Given the description of an element on the screen output the (x, y) to click on. 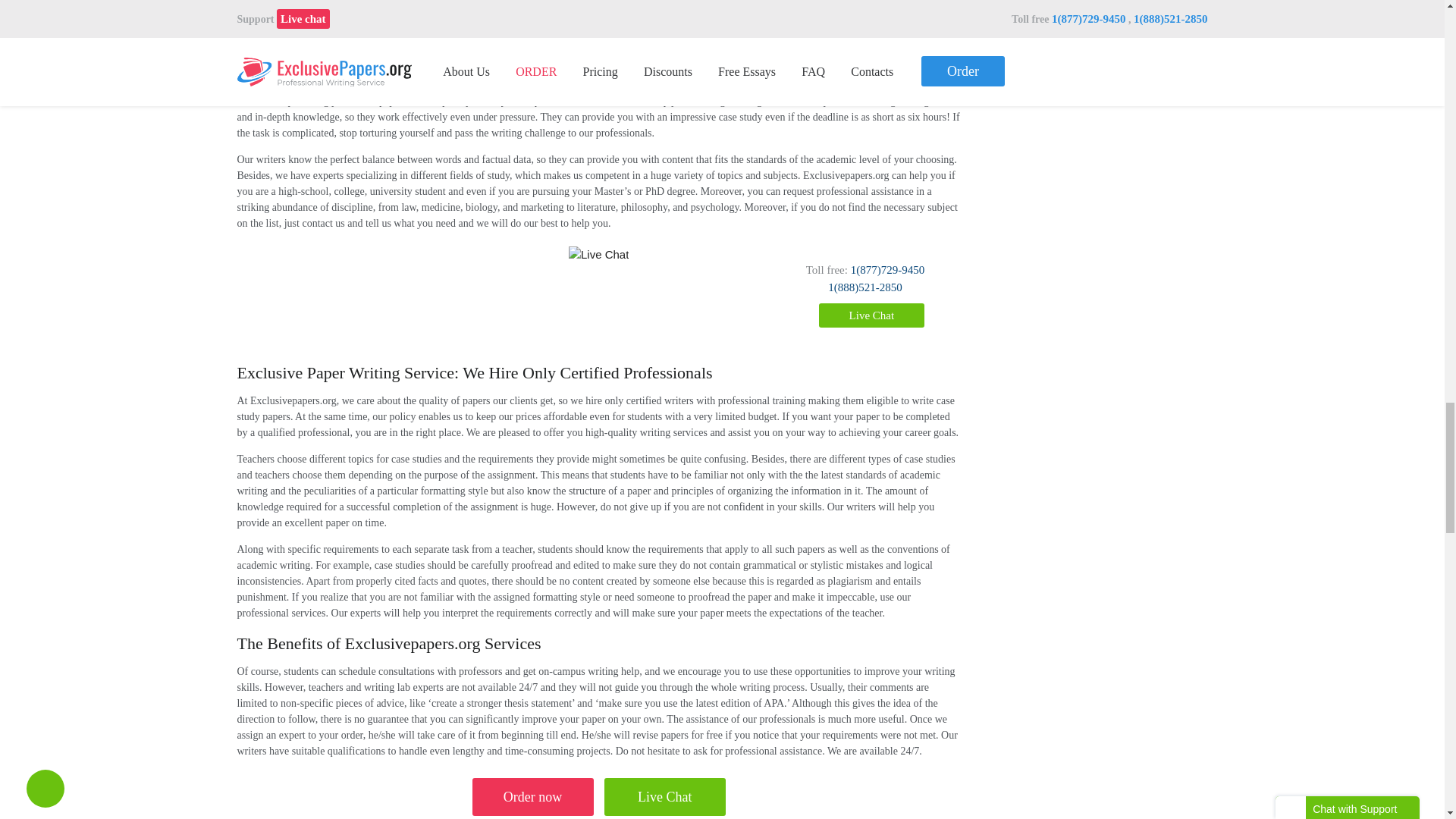
Order now (532, 796)
Live Chat (664, 796)
